Given the description of an element on the screen output the (x, y) to click on. 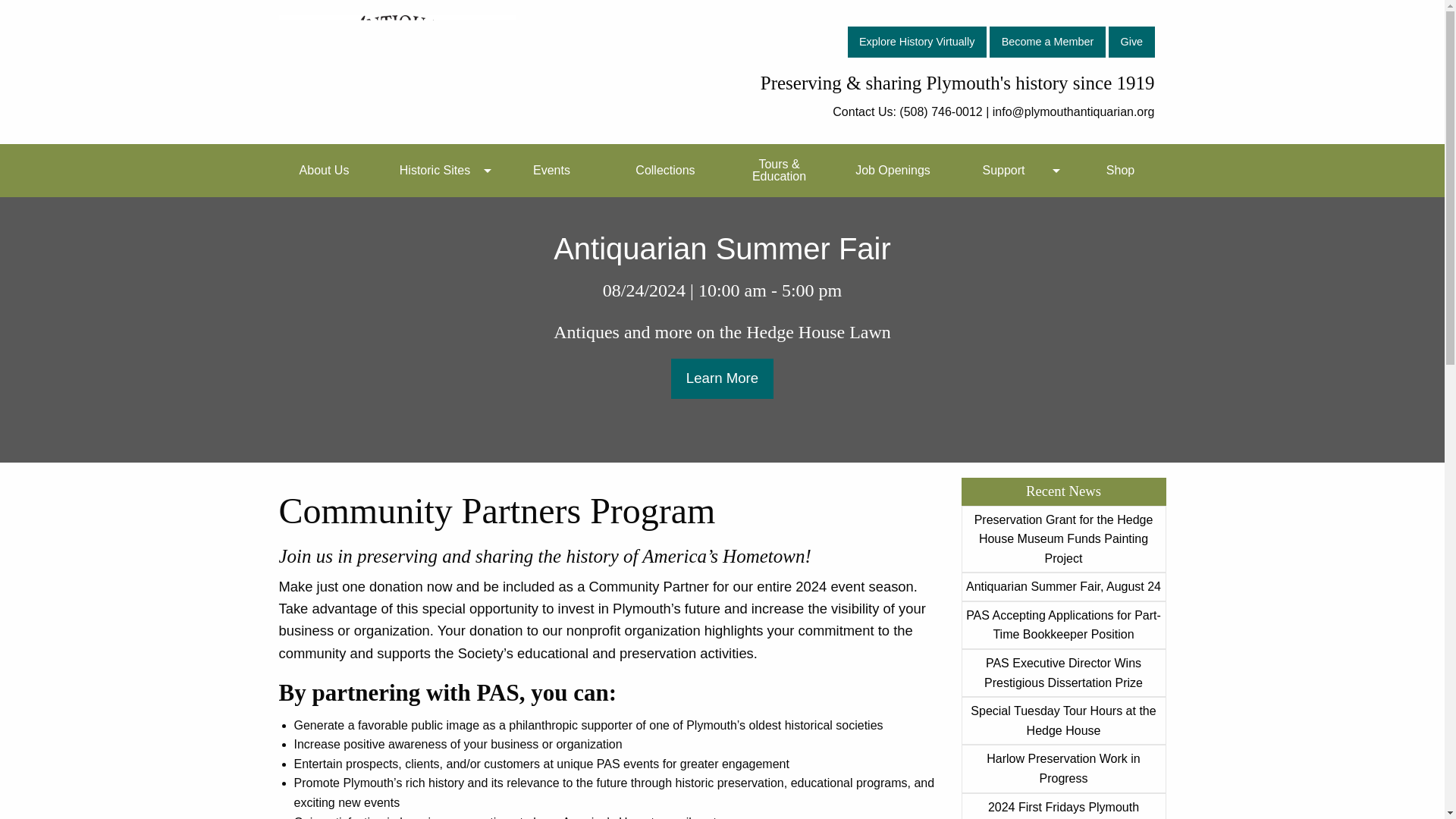
Collections (665, 170)
Events (551, 170)
Historic Sites (437, 170)
Support (1005, 170)
Shop (1119, 170)
Learn More (722, 378)
Job Openings (892, 170)
Explore History Virtually (917, 41)
PAS Executive Director Wins Prestigious Dissertation Prize (1063, 672)
Become a Member (1047, 41)
